Given the description of an element on the screen output the (x, y) to click on. 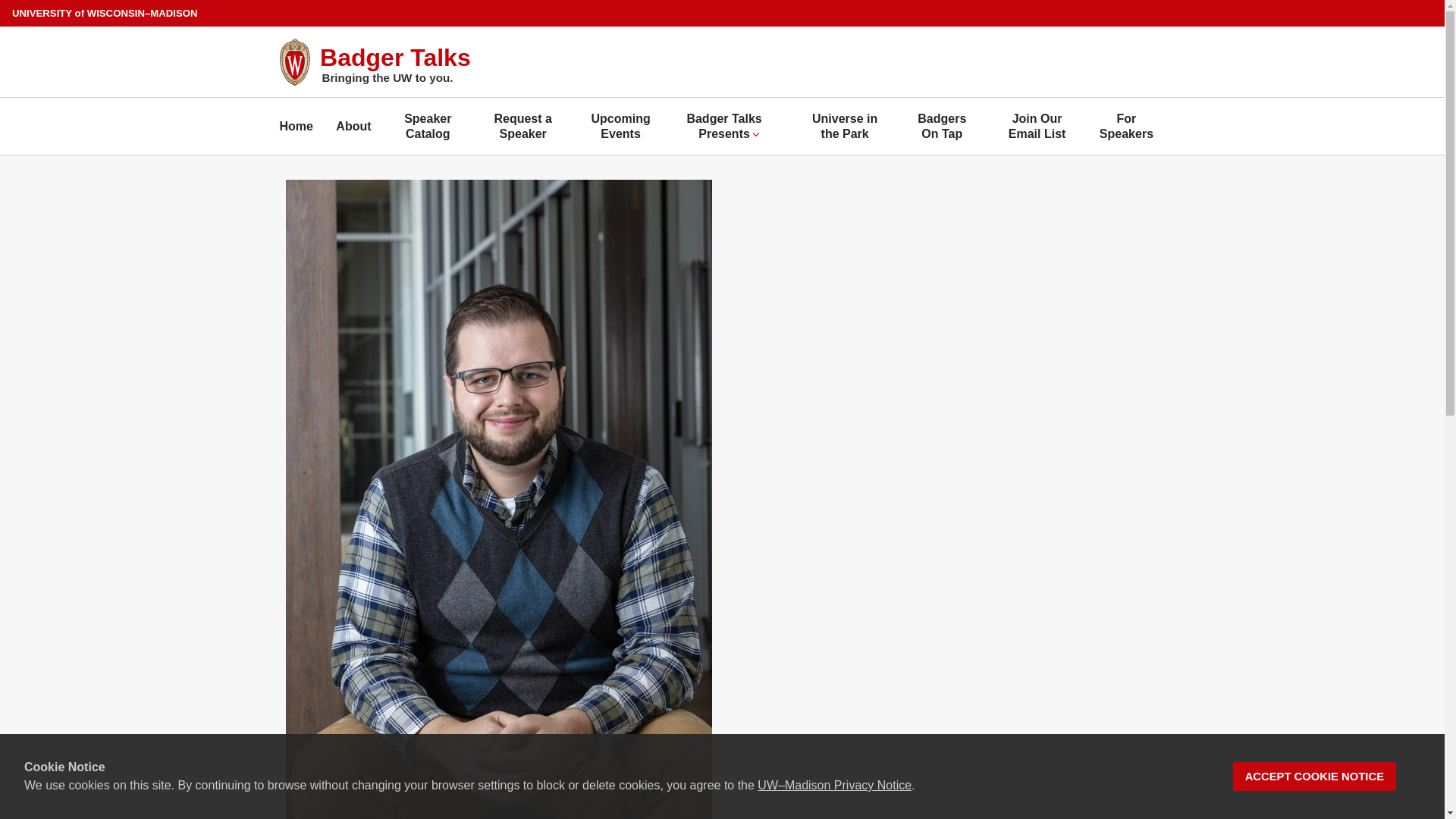
Join Our Email List (1036, 125)
About (353, 126)
For Speakers (1126, 125)
Speaker Catalog (427, 125)
Universe in the Park (844, 125)
Badger Talks (395, 57)
Expand (755, 133)
Home (296, 126)
Badger Talks Presents Expand (729, 125)
Skip to main content (3, 3)
Request a Speaker (522, 125)
ACCEPT COOKIE NOTICE (1314, 776)
Upcoming Events (621, 125)
Badgers On Tap (941, 125)
